Given the description of an element on the screen output the (x, y) to click on. 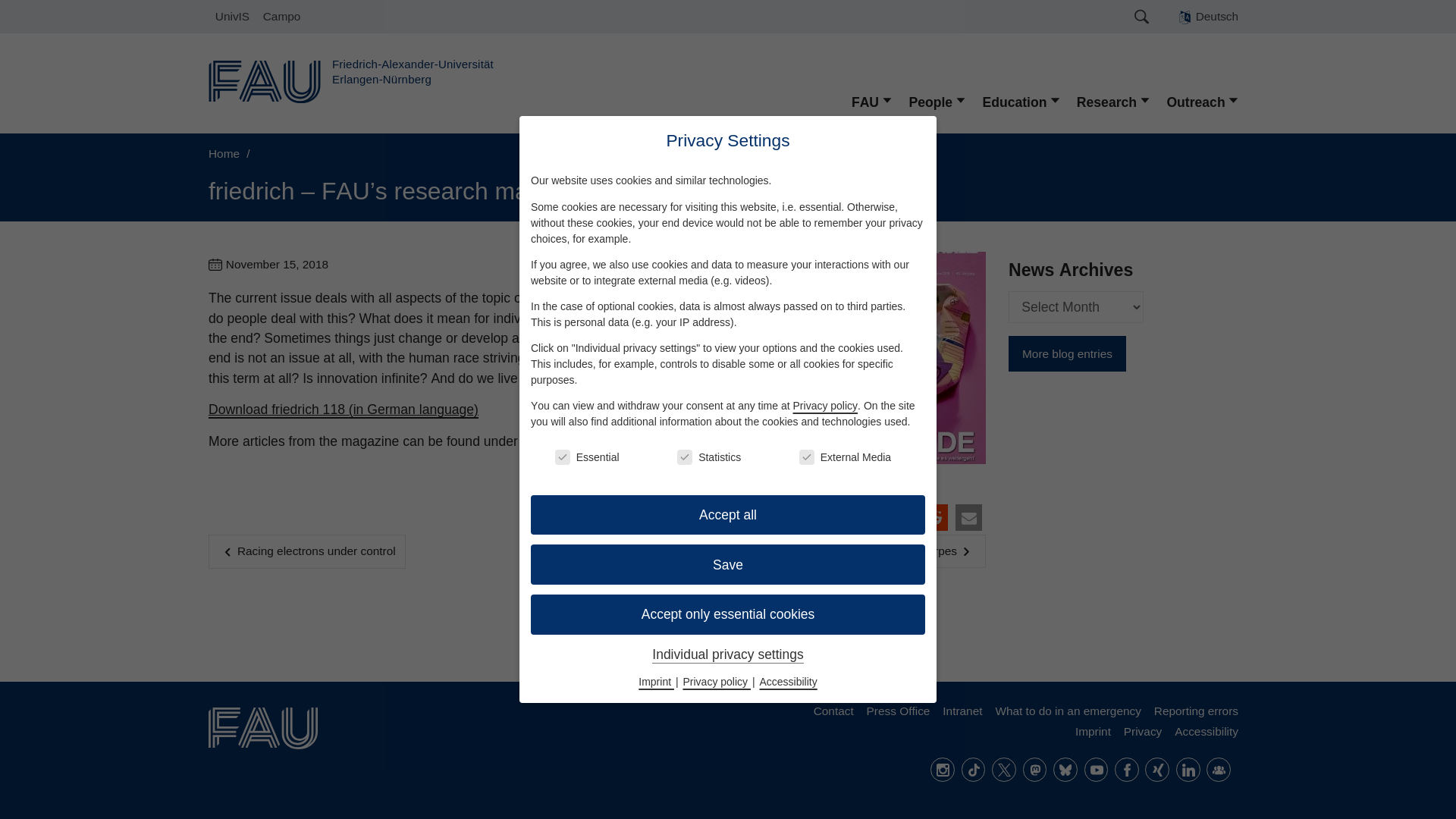
FAU (872, 102)
People (937, 102)
Share on Reddit (934, 517)
Campo (281, 16)
UnivIS (232, 16)
Share on LinkedIn (900, 517)
Share on XING (866, 517)
Send by email (968, 517)
Share on Telegram (831, 517)
